Given the description of an element on the screen output the (x, y) to click on. 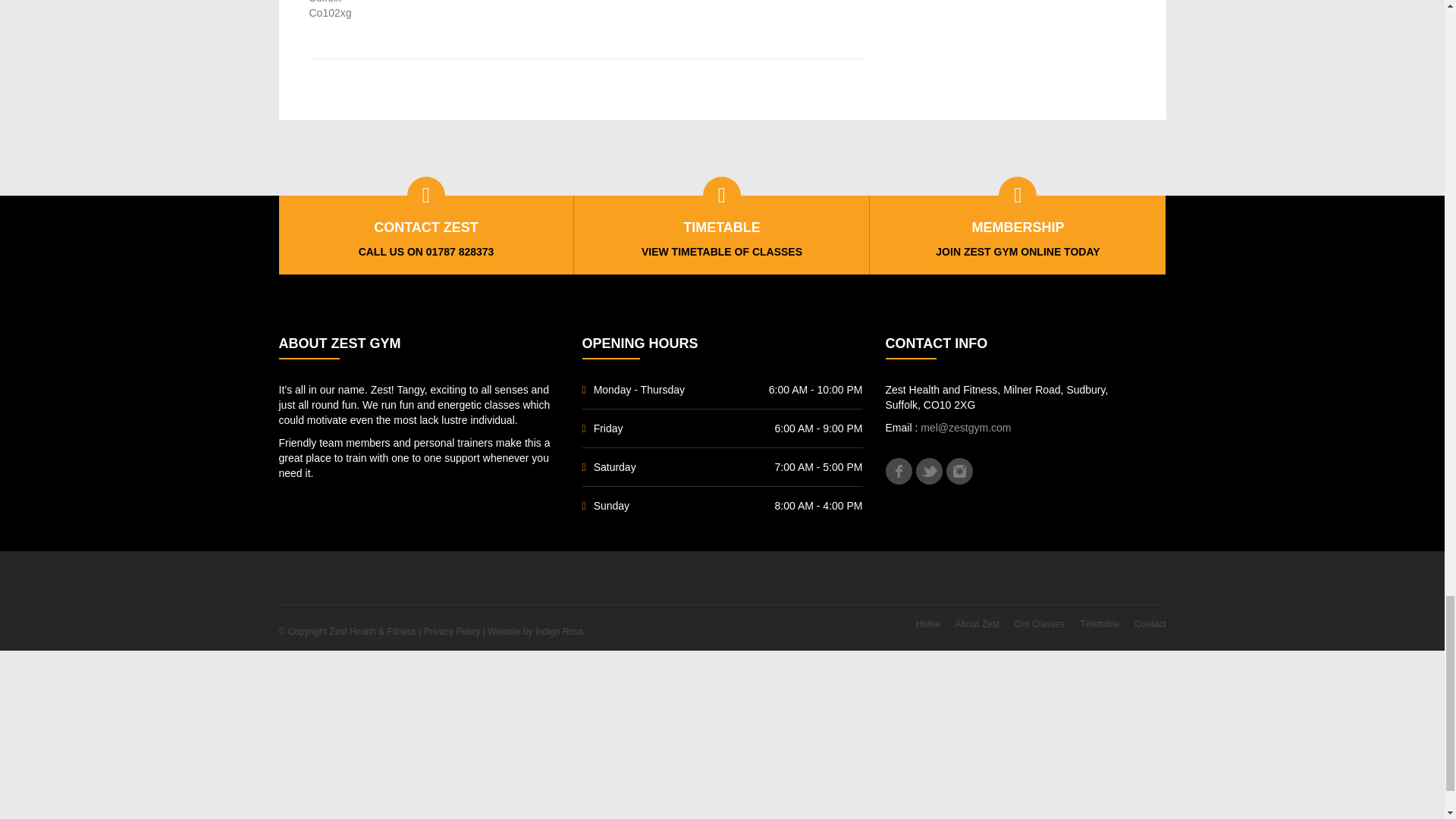
VIEW TIMETABLE OF CLASSES (722, 251)
CALL US ON 01787 828373 (426, 251)
Twitter (928, 470)
JOIN ZEST GYM ONLINE TODAY (1017, 251)
Facebook (898, 470)
